Given the description of an element on the screen output the (x, y) to click on. 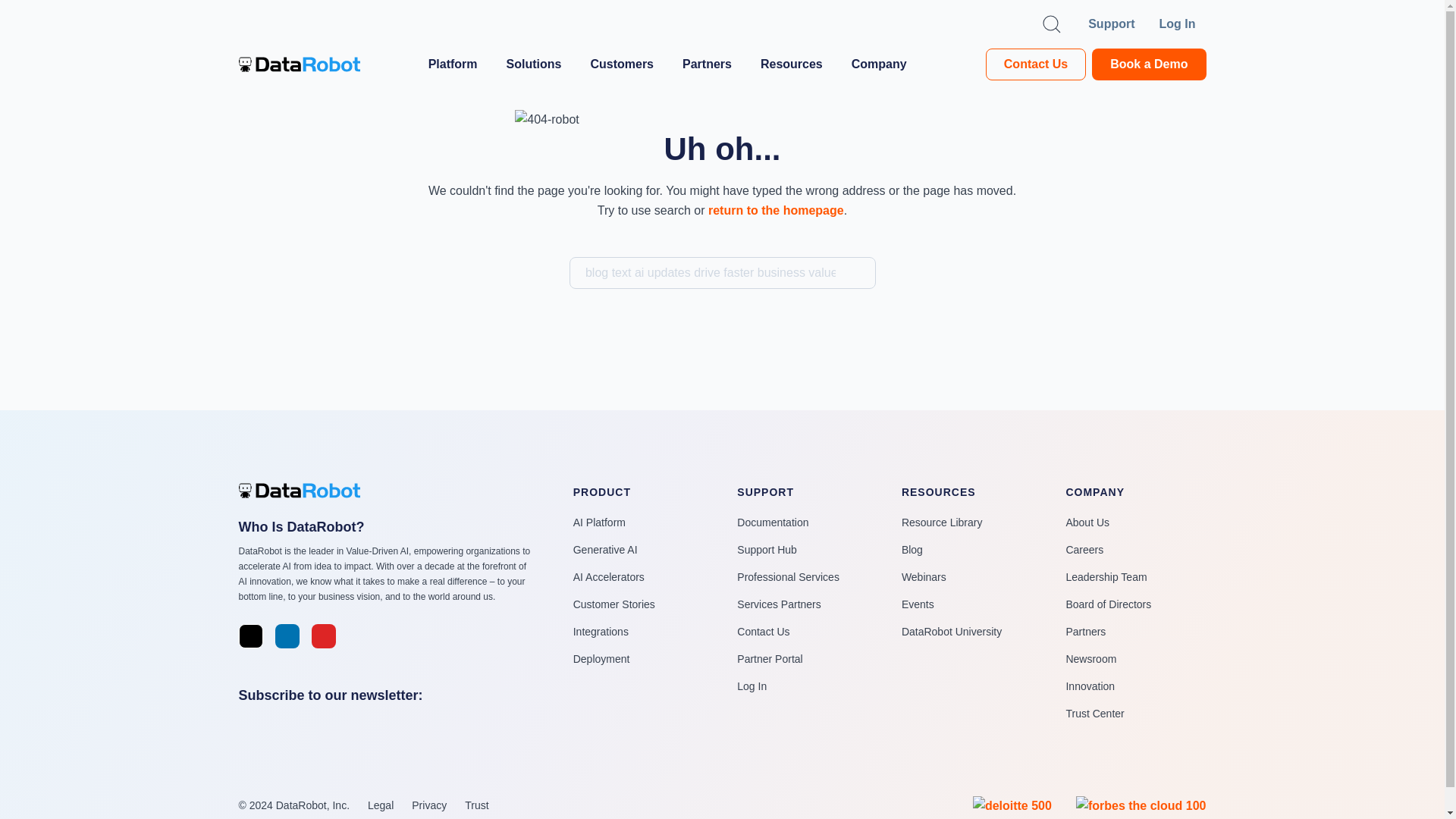
 blog text ai updates drive faster business value  (722, 273)
Log In (1182, 24)
DataRobot (306, 490)
 blog text ai updates drive faster business value  (722, 273)
Customers (626, 64)
Solutions (538, 64)
Platform (458, 64)
Support (1110, 24)
DataRobot (298, 64)
